Given the description of an element on the screen output the (x, y) to click on. 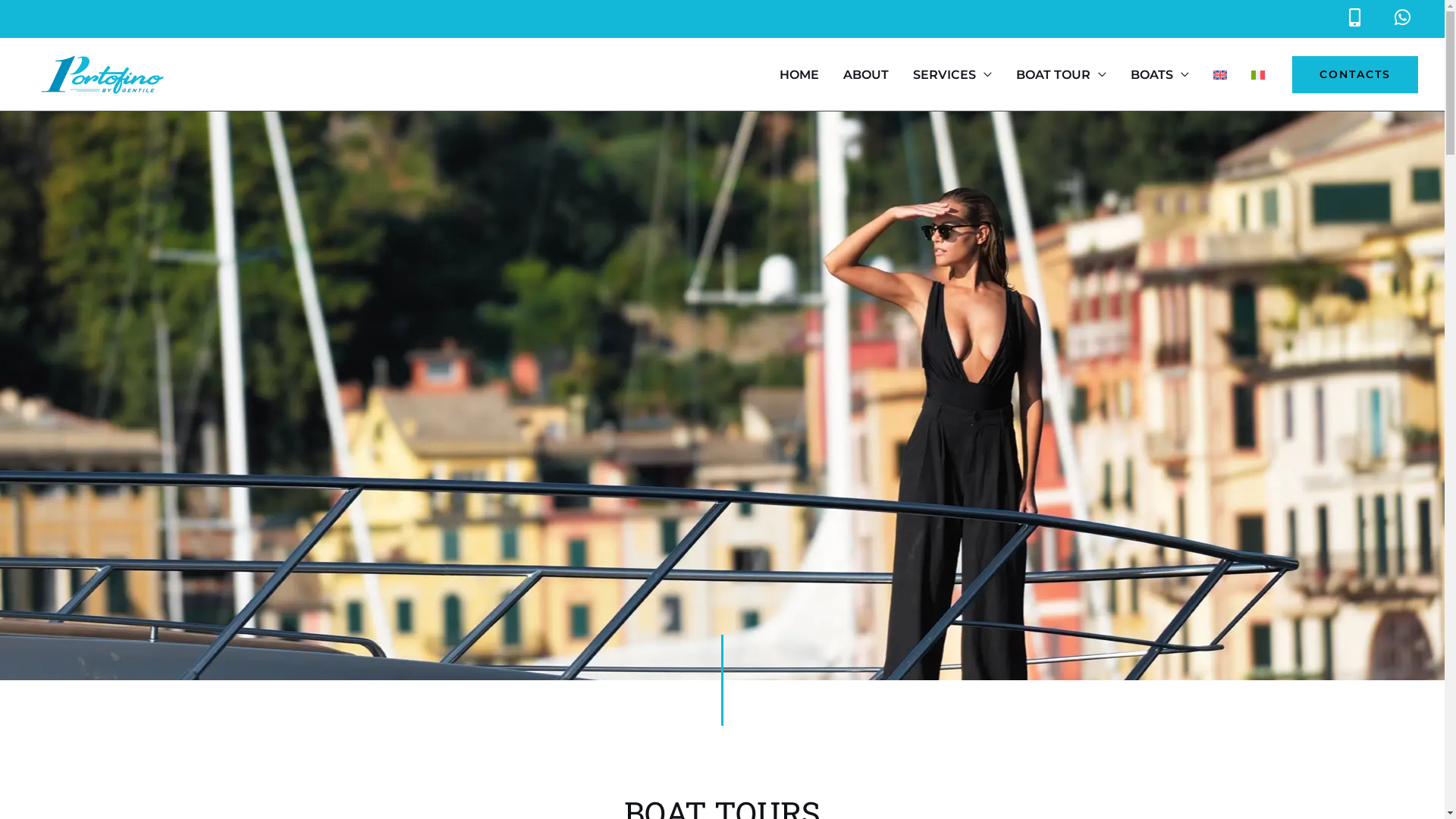
CONTACTS Element type: text (1355, 75)
BOATS Element type: text (1159, 73)
SERVICES Element type: text (952, 73)
BOAT TOUR Element type: text (1061, 73)
whatsapp 1portofino Element type: hover (1402, 17)
phone 1portofino Element type: hover (1354, 18)
ABOUT Element type: text (865, 73)
HOME Element type: text (799, 73)
